Given the description of an element on the screen output the (x, y) to click on. 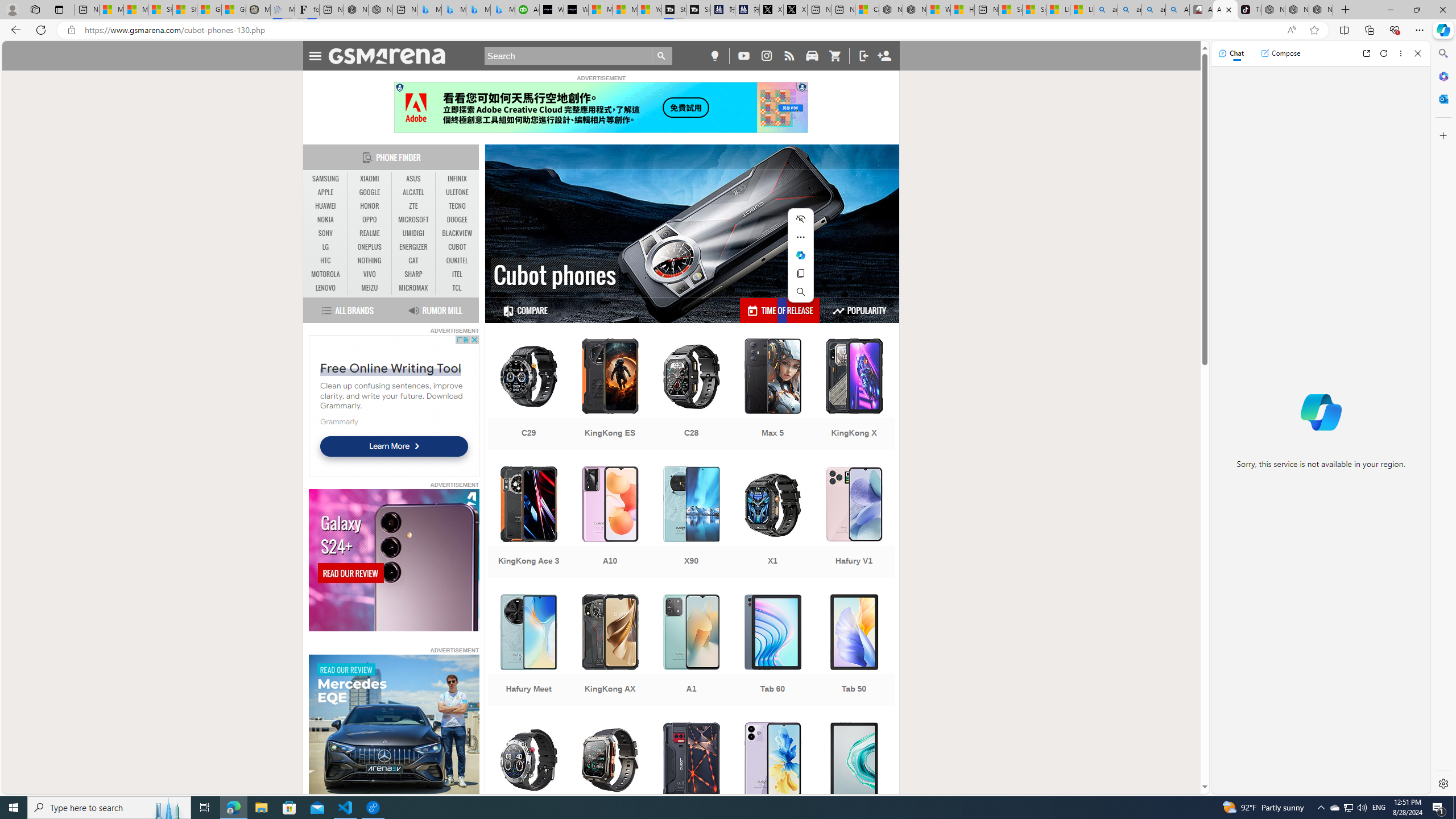
ONEPLUS (369, 246)
MICROMAX (413, 287)
Toggle Navigation (314, 53)
HUAWEI (325, 205)
MEIZU (369, 287)
Nordace - Best Sellers (1273, 9)
Copy (800, 273)
ONEPLUS (369, 246)
